Given the description of an element on the screen output the (x, y) to click on. 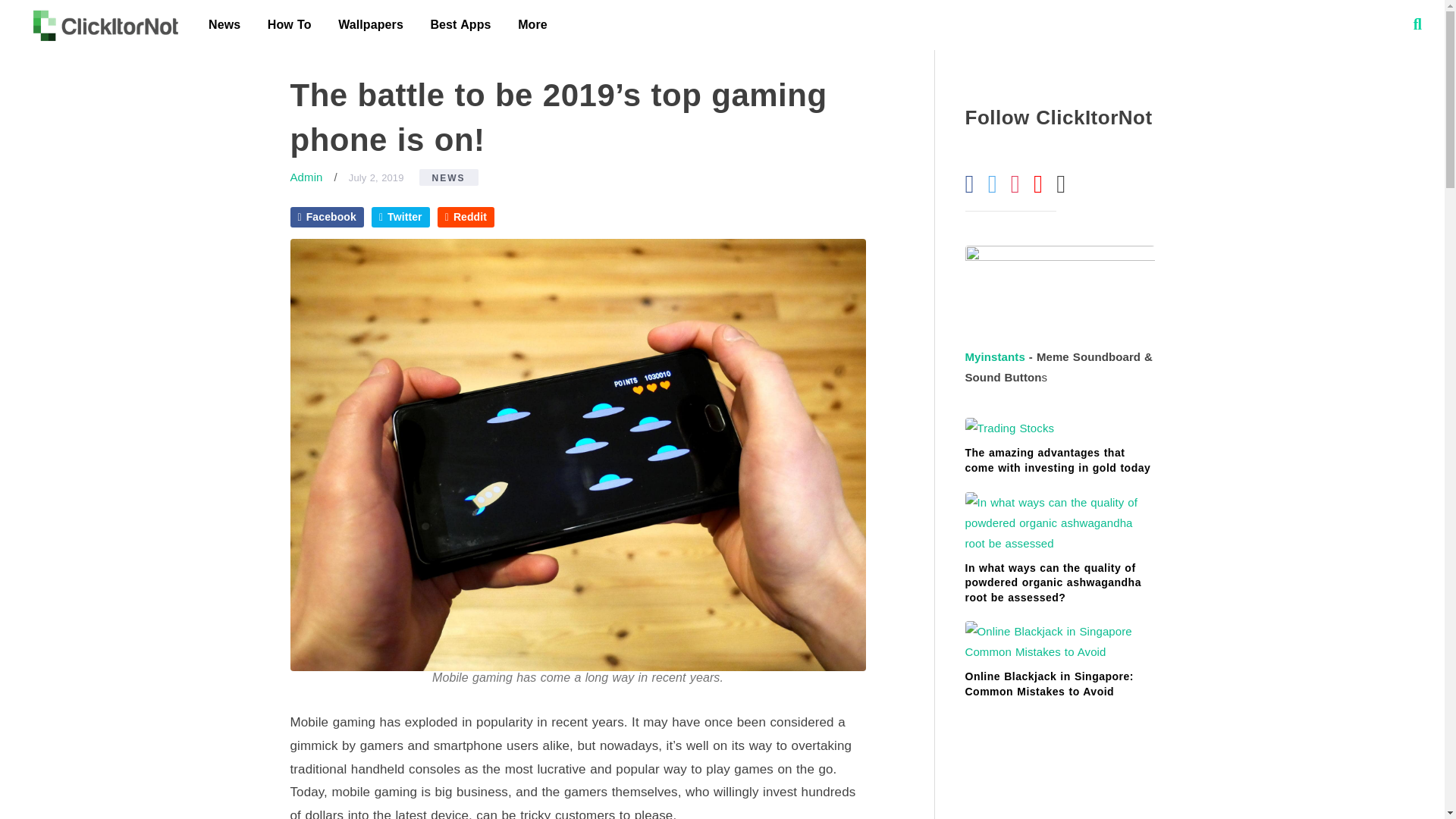
Best Apps (460, 24)
Admin (305, 176)
NEWS (449, 176)
Wallpapers (370, 24)
How To (289, 24)
News (223, 24)
More (532, 24)
Twitter (400, 217)
Reddit (466, 217)
